Given the description of an element on the screen output the (x, y) to click on. 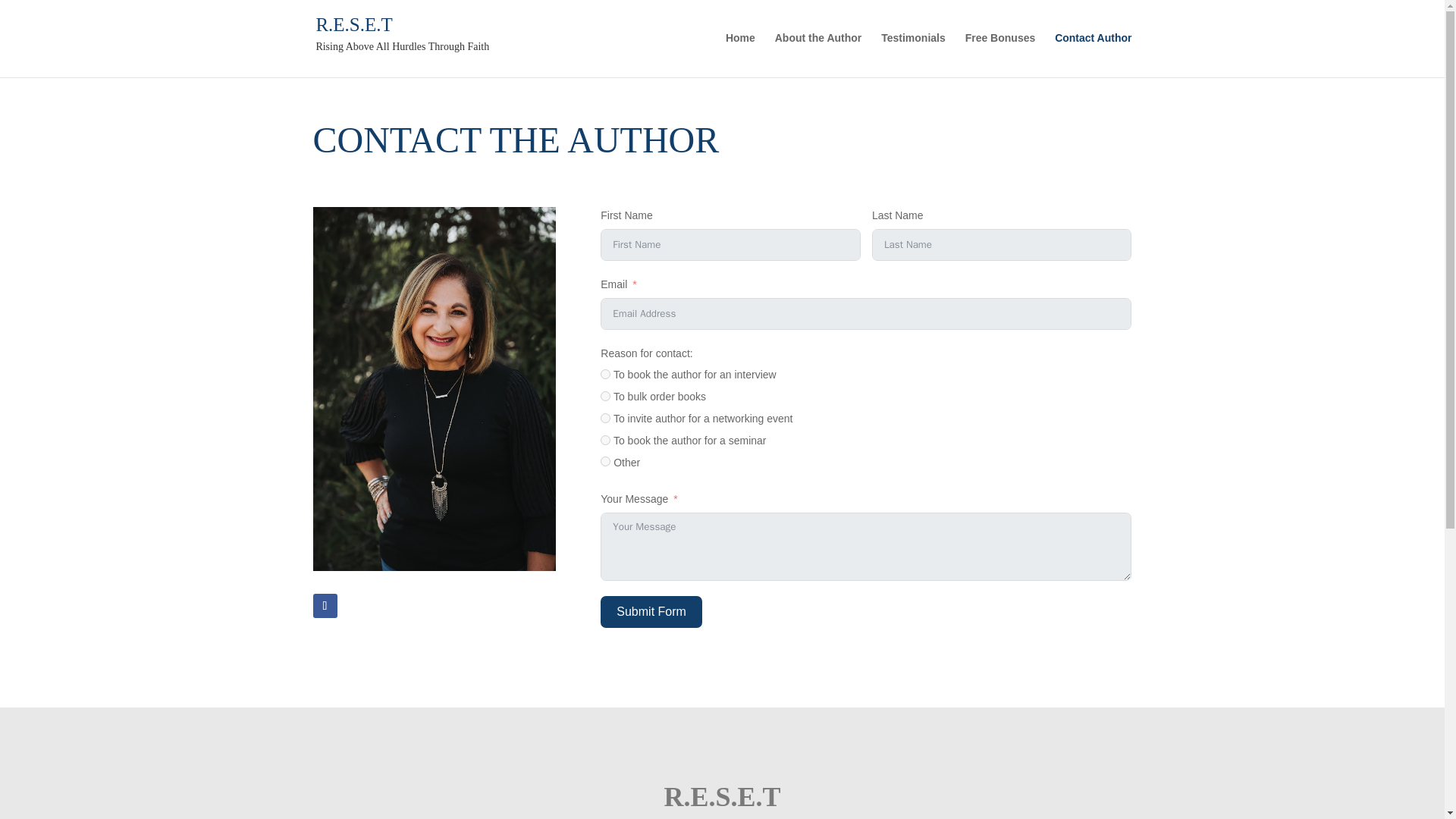
Submit Form (650, 612)
To book the author for a seminar (604, 439)
R.E.S.E.T (353, 24)
About the Author (817, 49)
Home (740, 49)
To invite author for a networking event (604, 418)
Other (604, 461)
Testimonials (912, 49)
To bulk order books (604, 396)
To book the author for an interview (604, 374)
Facebook (324, 605)
Contact Author (1092, 49)
Free Bonuses (1000, 49)
